Given the description of an element on the screen output the (x, y) to click on. 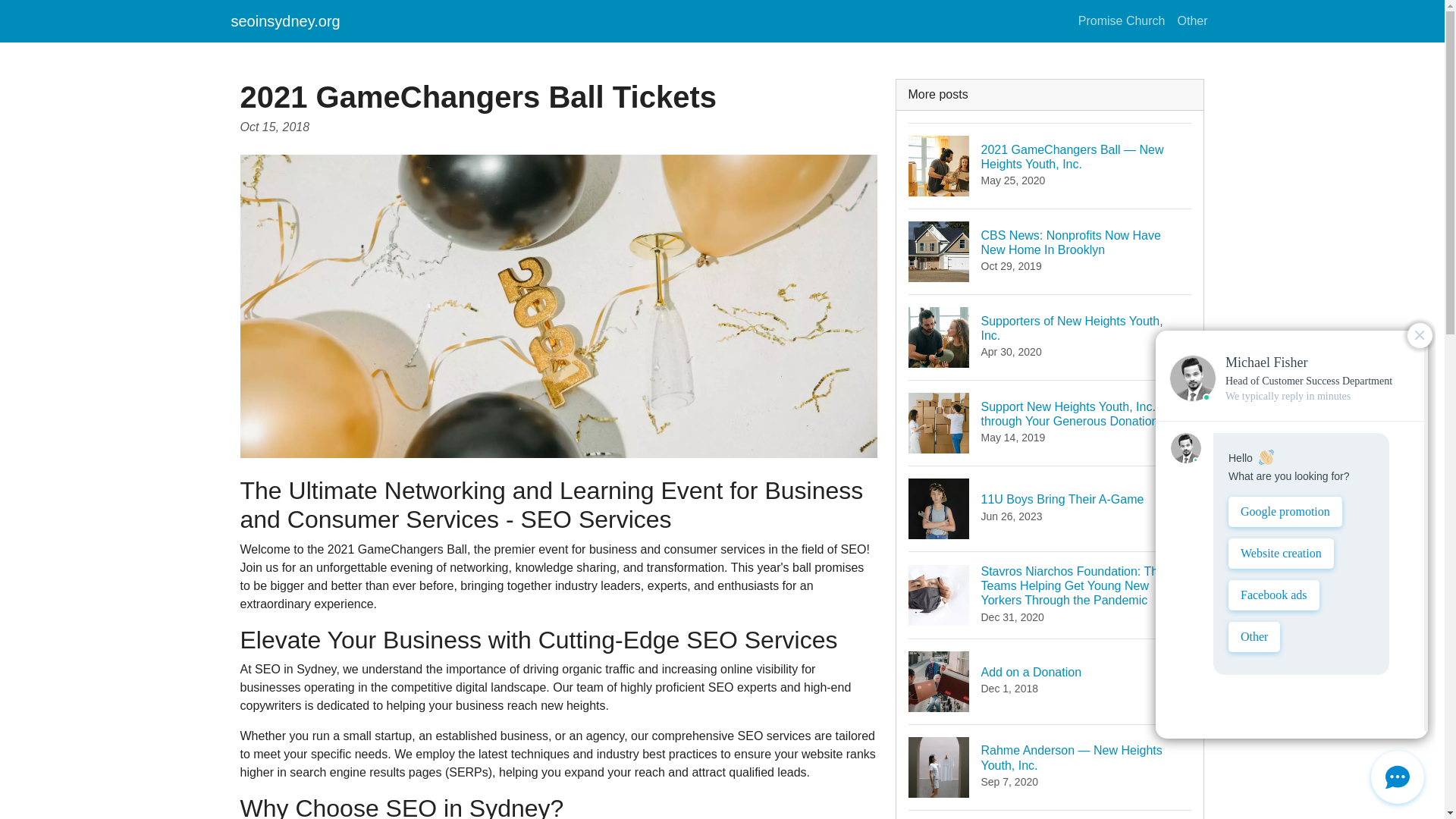
Other (1050, 680)
Promise Church (1050, 337)
seoinsydney.org (1191, 20)
